Given the description of an element on the screen output the (x, y) to click on. 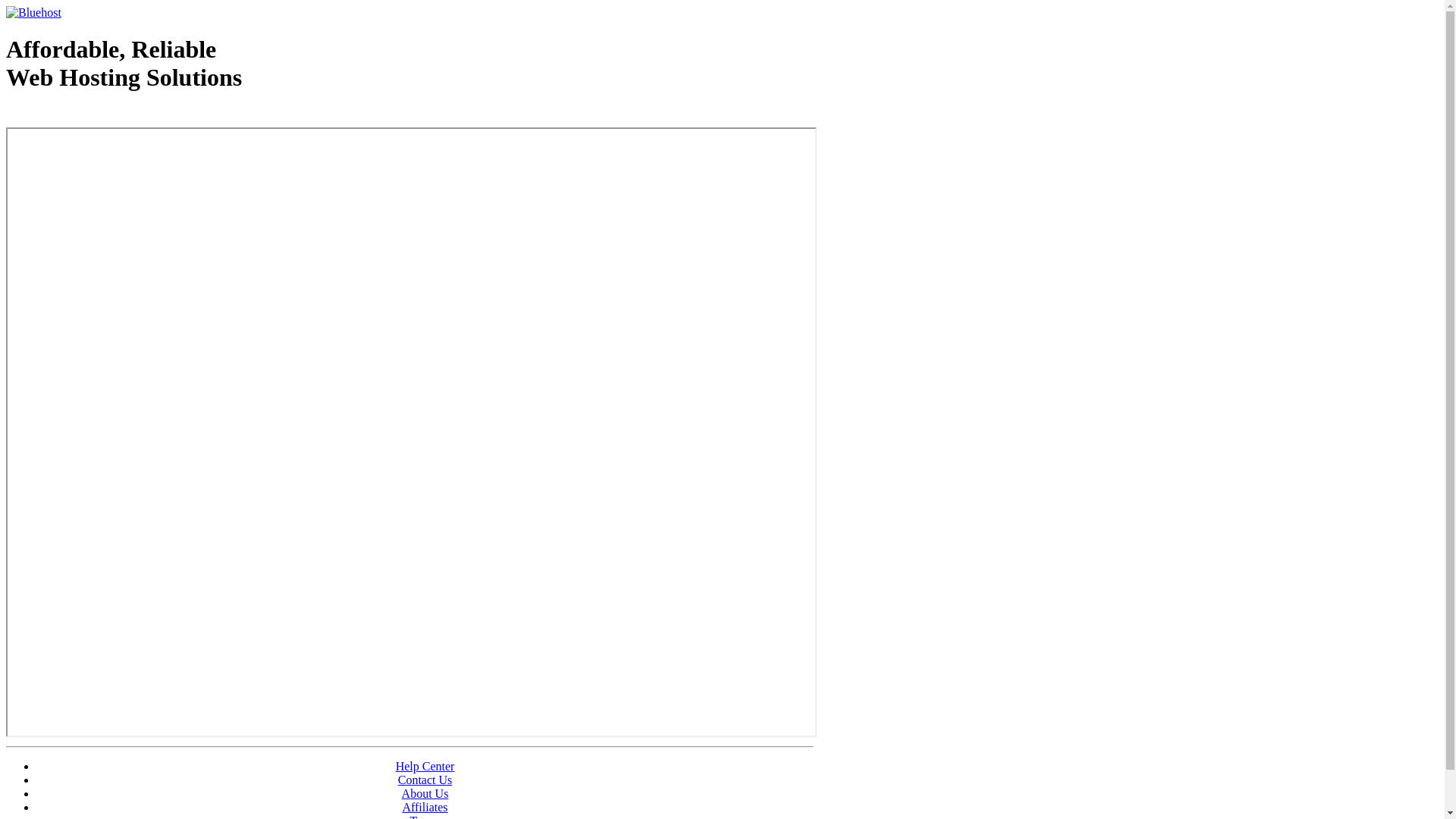
Affiliates Element type: text (424, 806)
Help Center Element type: text (425, 765)
Contact Us Element type: text (425, 779)
Web Hosting - courtesy of www.bluehost.com Element type: text (94, 115)
About Us Element type: text (424, 793)
